Given the description of an element on the screen output the (x, y) to click on. 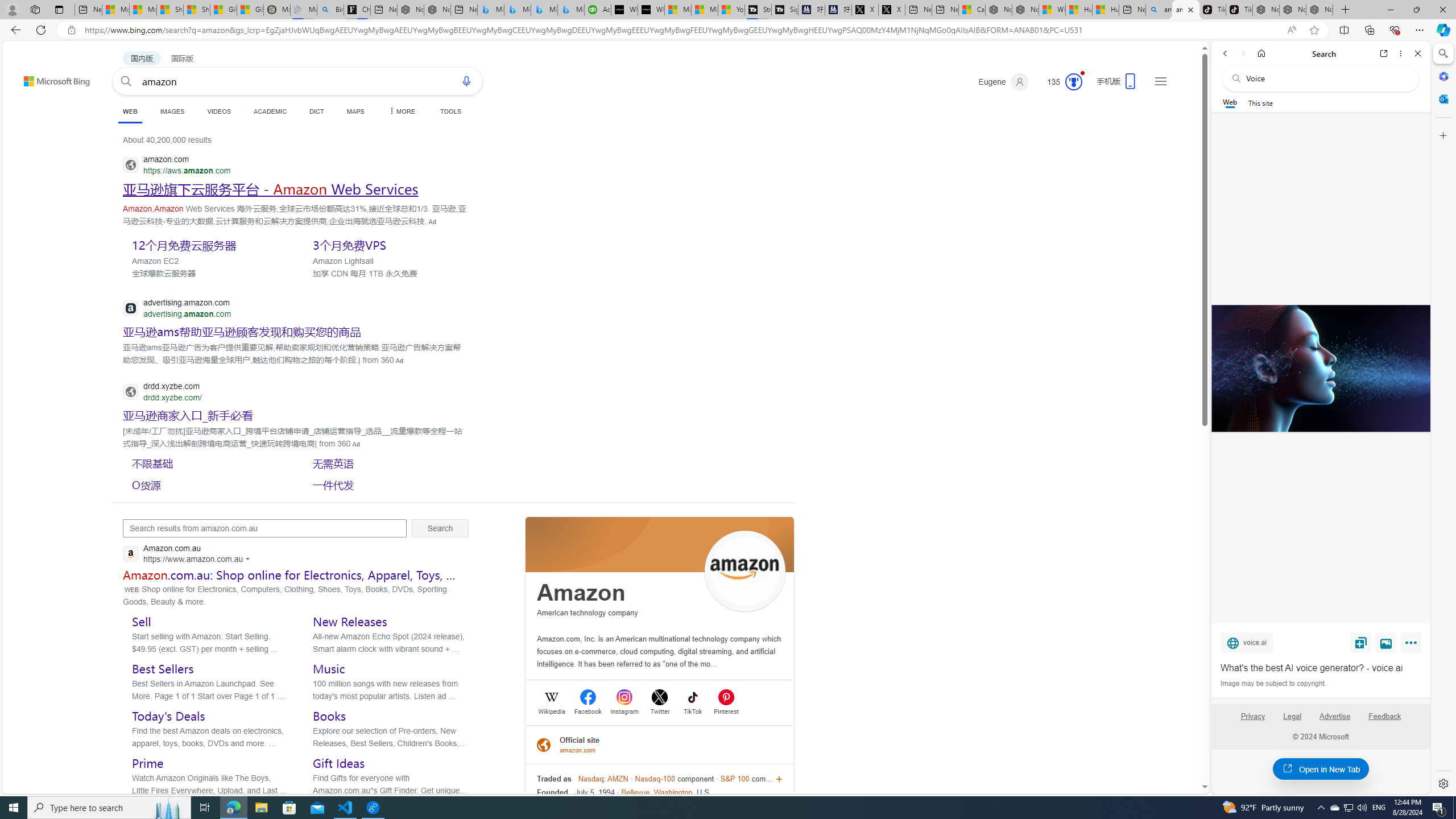
IMAGES (172, 111)
This site scope (1259, 102)
Open link in new tab (1383, 53)
Outlook (1442, 98)
Privacy (1252, 715)
Bing Real Estate - Home sales and rental listings (329, 9)
MAPS (355, 111)
IMAGES (172, 111)
